Given the description of an element on the screen output the (x, y) to click on. 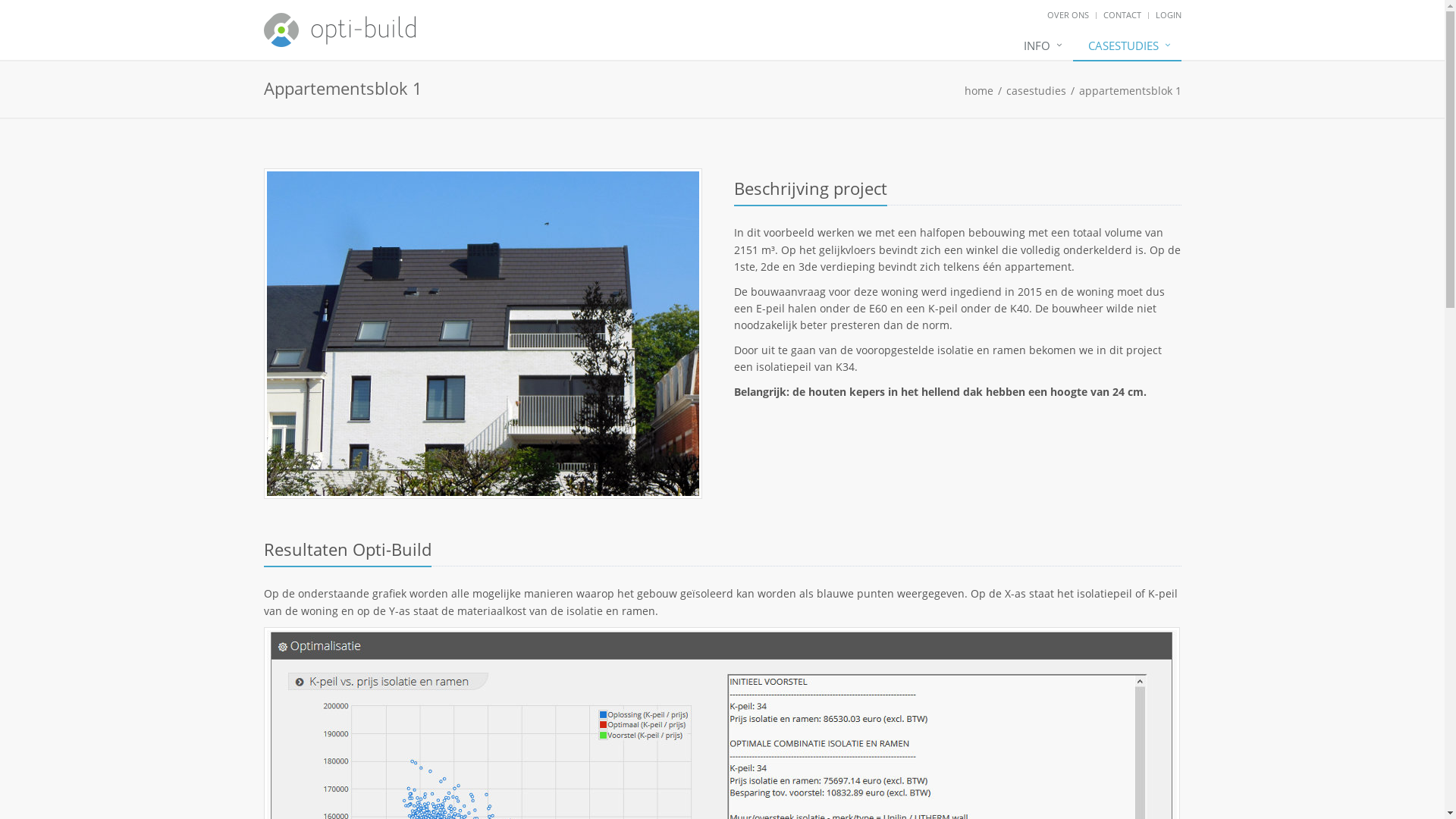
LOGIN Element type: text (1168, 14)
CASESTUDIES Element type: text (1126, 46)
INFO Element type: text (1040, 46)
home Element type: text (978, 90)
casestudies Element type: text (1035, 90)
appartementsblok 1 Element type: text (1129, 90)
OVER ONS Element type: text (1067, 14)
CONTACT Element type: text (1121, 14)
